Given the description of an element on the screen output the (x, y) to click on. 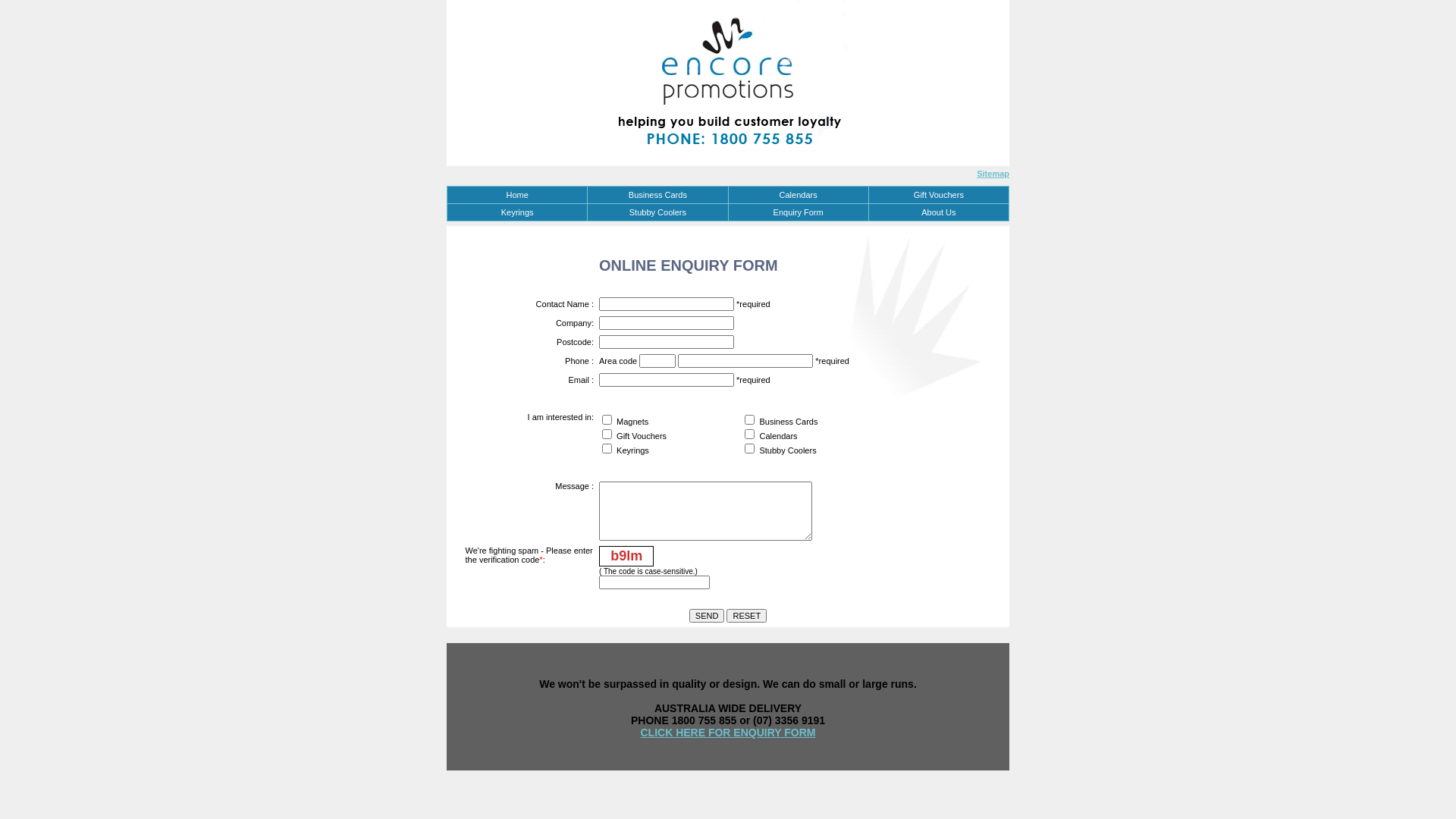
Sitemap Element type: text (992, 172)
Calendars Element type: text (797, 194)
Keyrings Element type: text (516, 211)
Home Element type: text (516, 194)
CLICK HERE FOR ENQUIRY FORM Element type: text (727, 732)
Business Cards Element type: text (657, 194)
Enquiry Form Element type: text (797, 211)
About Us Element type: text (938, 211)
Gift Vouchers Element type: text (938, 194)
Stubby Coolers Element type: text (657, 211)
SEND Element type: text (706, 615)
